Given the description of an element on the screen output the (x, y) to click on. 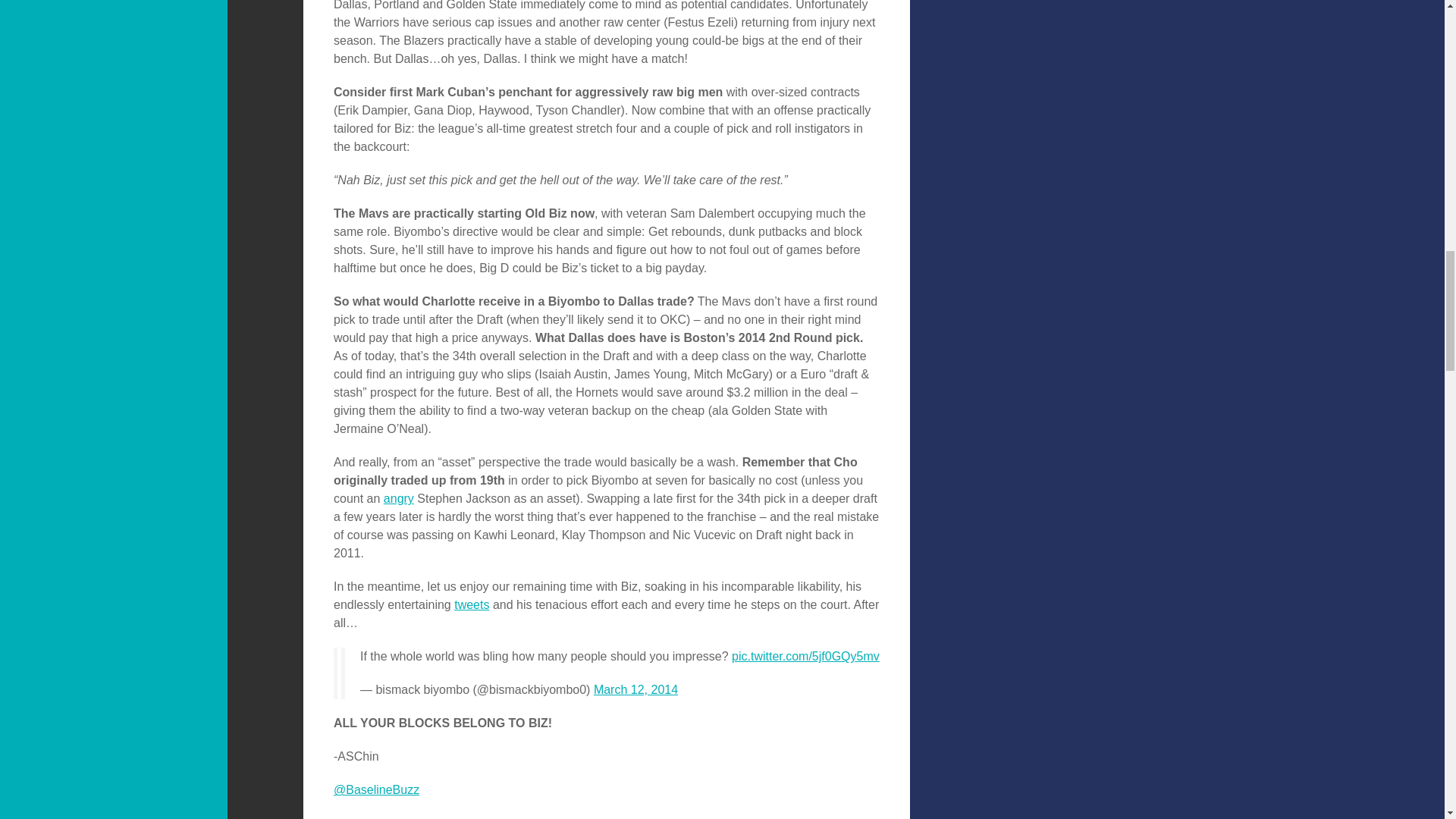
March 12, 2014 (636, 689)
tweets (471, 604)
angry (398, 498)
